Given the description of an element on the screen output the (x, y) to click on. 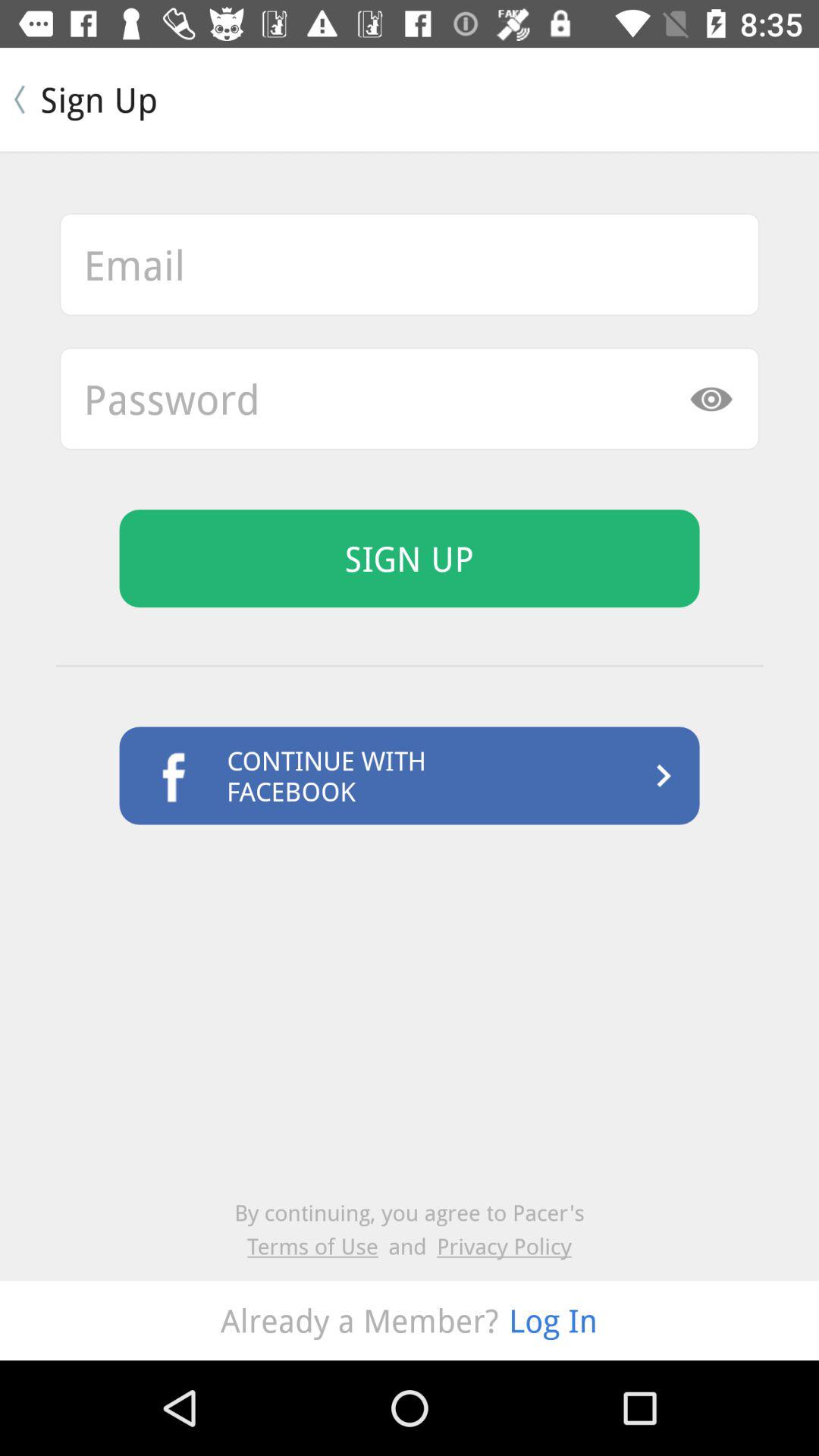
open the terms of use icon (317, 1245)
